Given the description of an element on the screen output the (x, y) to click on. 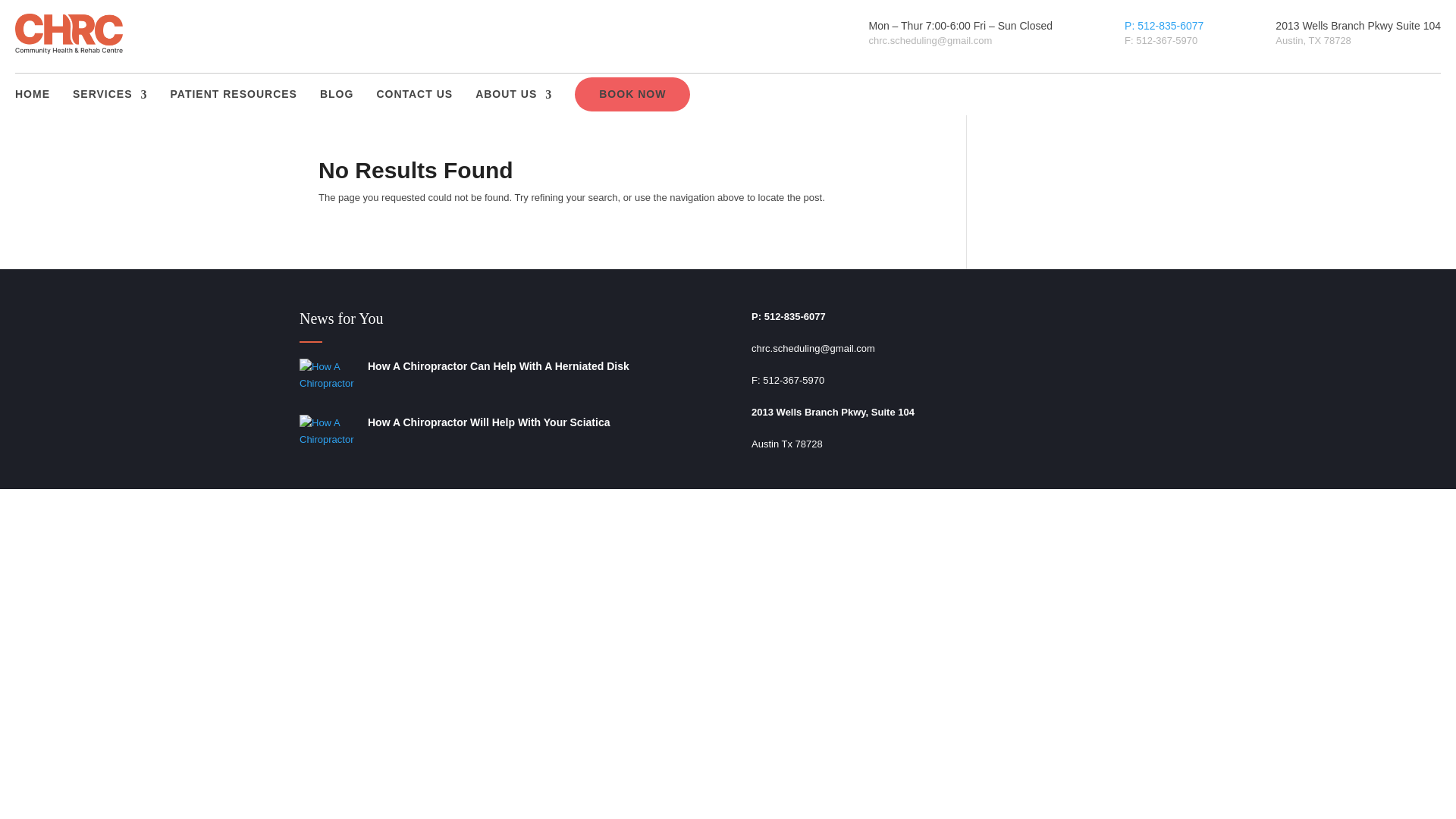
BOOK NOW (632, 93)
CONTACT US (413, 94)
How A Chiropractor Can Help With A Herniated Disk (498, 366)
How A Chiropractor Will Help With Your Sciatica (489, 422)
SERVICES (110, 94)
ABOUT US (513, 94)
2013 Wells Branch Pkwy, Suite 104 (832, 411)
Austin Tx 78728 (786, 443)
P: 512-835-6077 (788, 316)
P: 512-835-6077 (1164, 25)
